Given the description of an element on the screen output the (x, y) to click on. 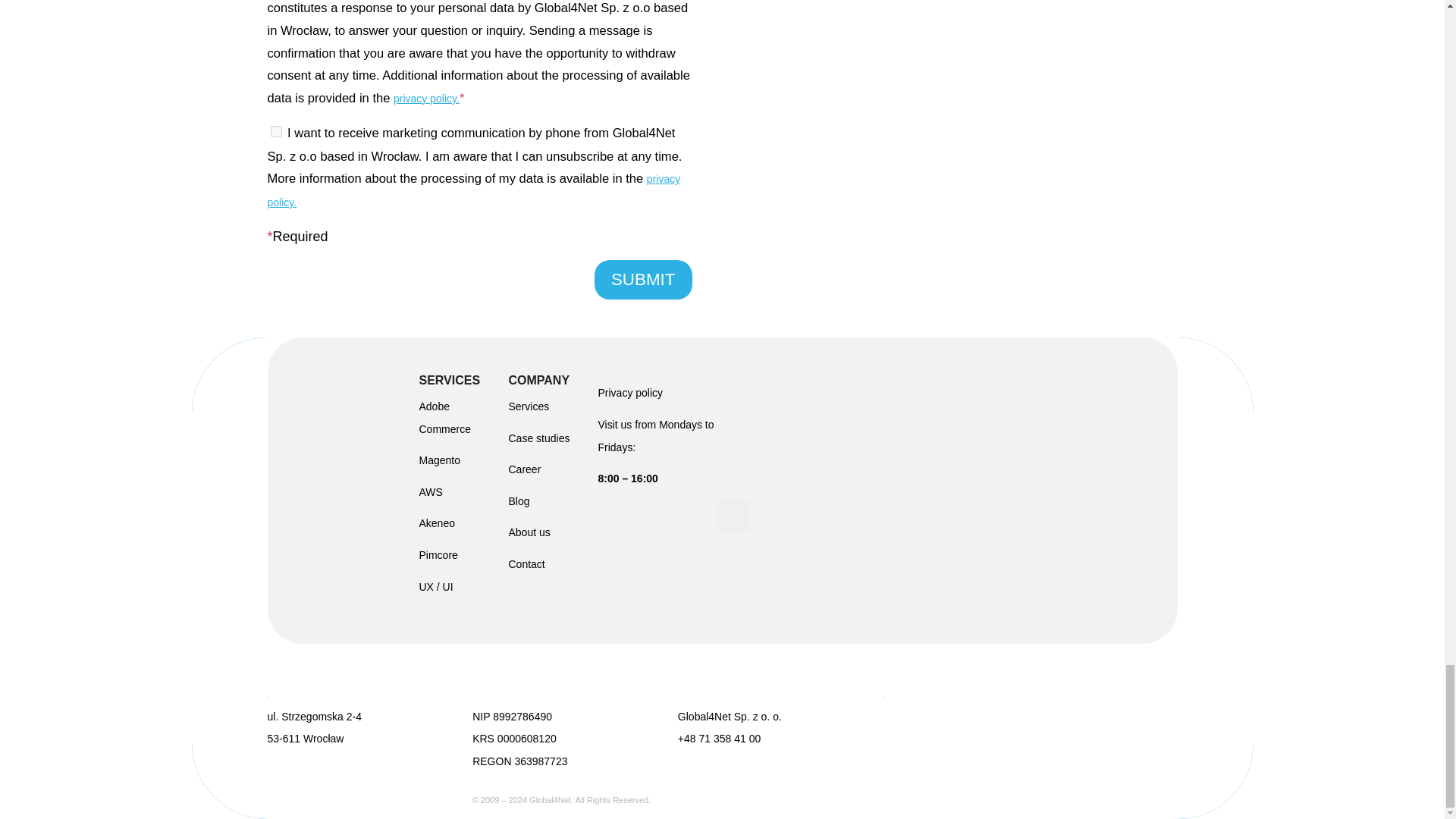
SUBMIT (643, 279)
1 (275, 131)
